Given the description of an element on the screen output the (x, y) to click on. 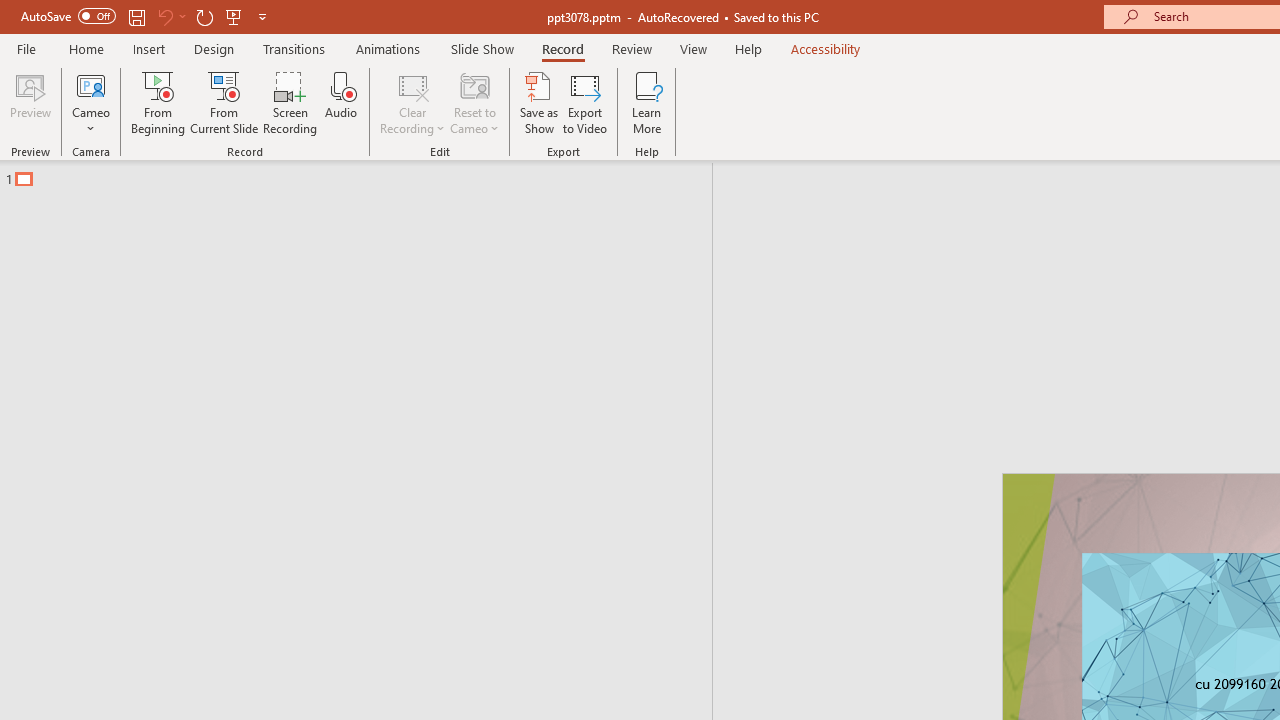
Learn More (646, 102)
Outline (365, 174)
Save as Show (539, 102)
Export to Video (585, 102)
